Given the description of an element on the screen output the (x, y) to click on. 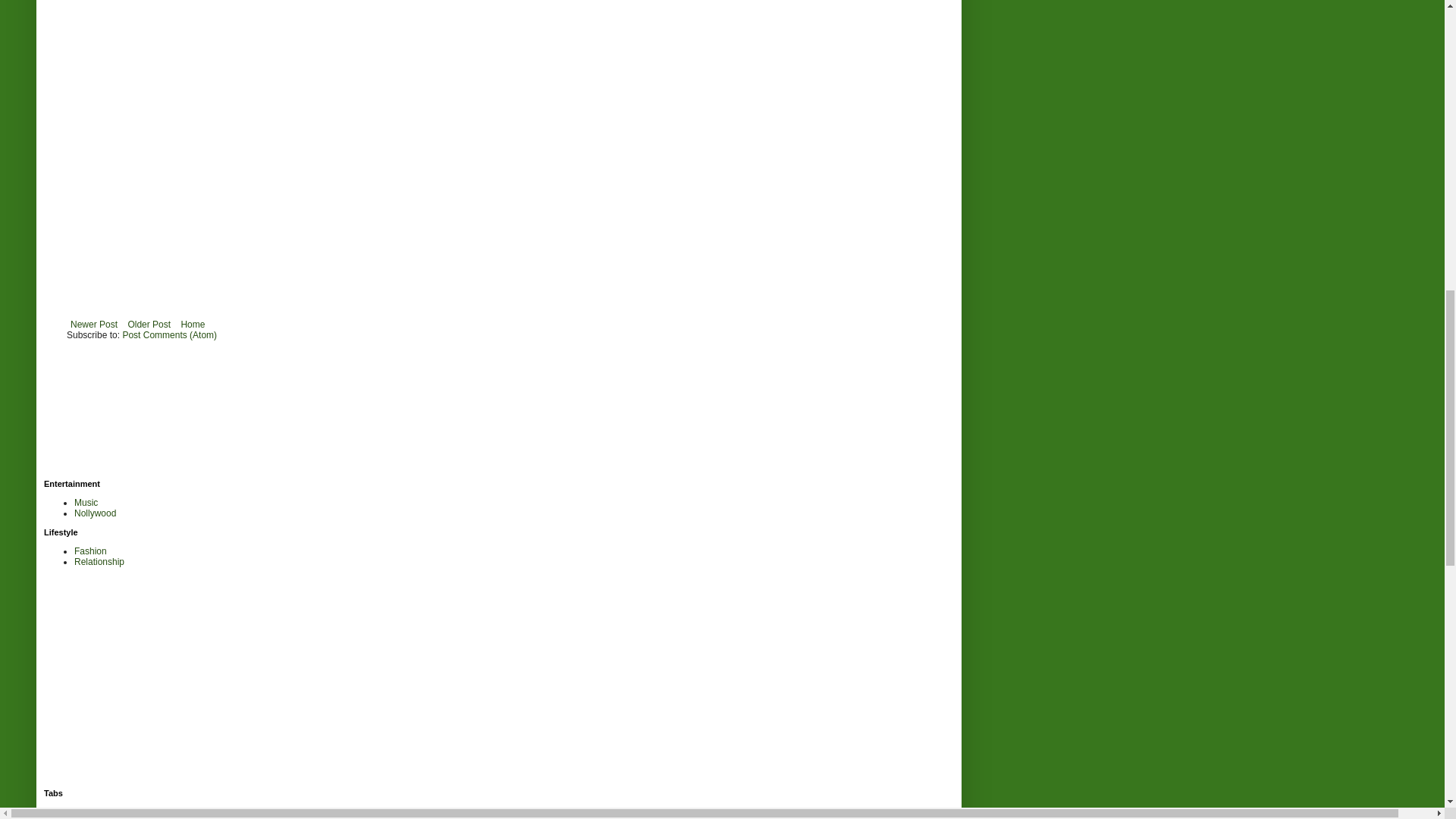
Newer Post (93, 324)
Music (85, 502)
Older Post (148, 324)
Older Post (148, 324)
Advertisement (175, 682)
Home (192, 324)
Relationship (98, 561)
Nollywood (95, 512)
Fashion (90, 551)
Newer Post (93, 324)
